Given the description of an element on the screen output the (x, y) to click on. 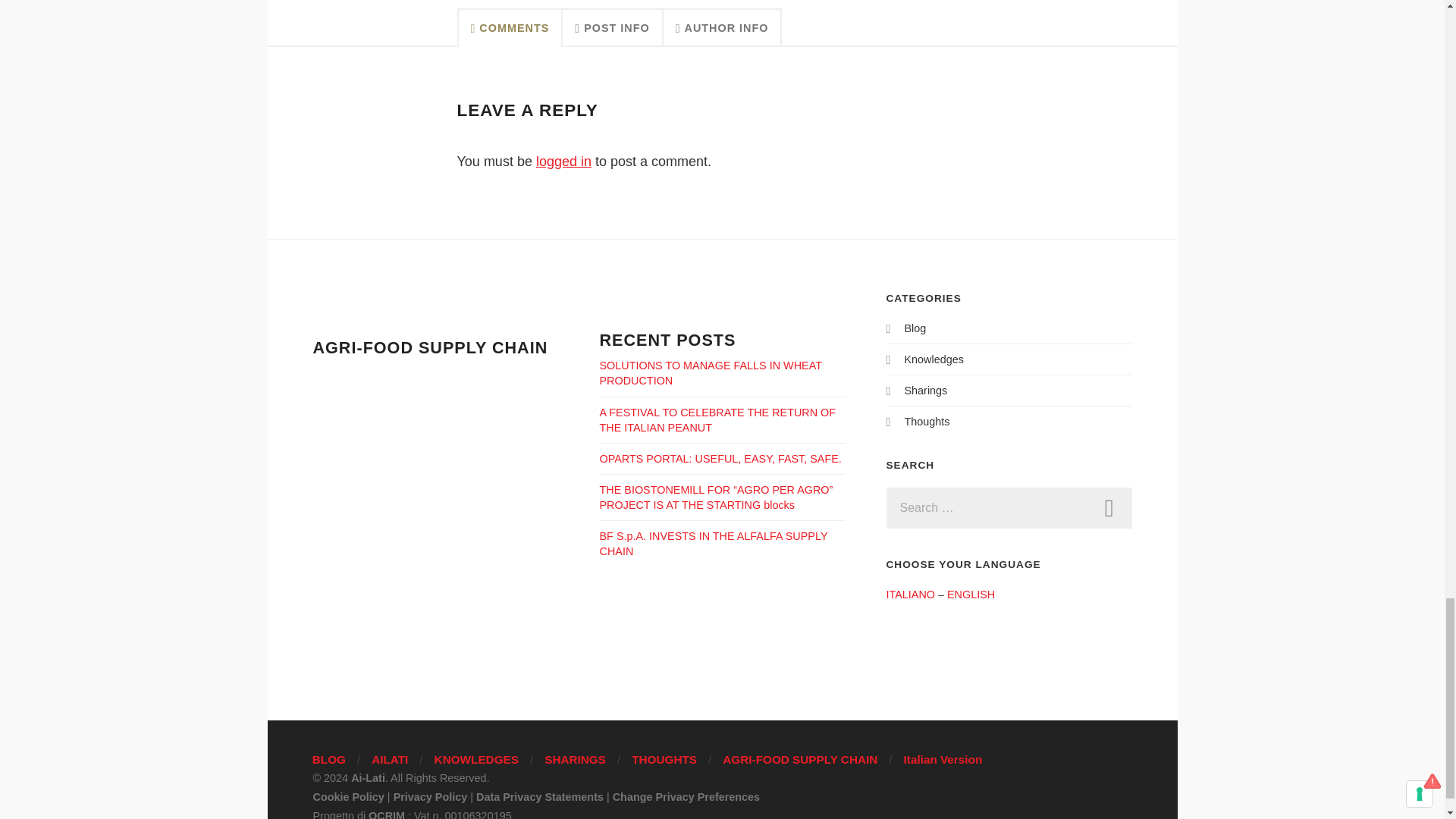
Search (1108, 507)
Search (1108, 507)
POST INFO (612, 26)
COMMENTS (509, 26)
logged in (563, 160)
AUTHOR INFO (723, 26)
Ai-Lati (367, 777)
